Given the description of an element on the screen output the (x, y) to click on. 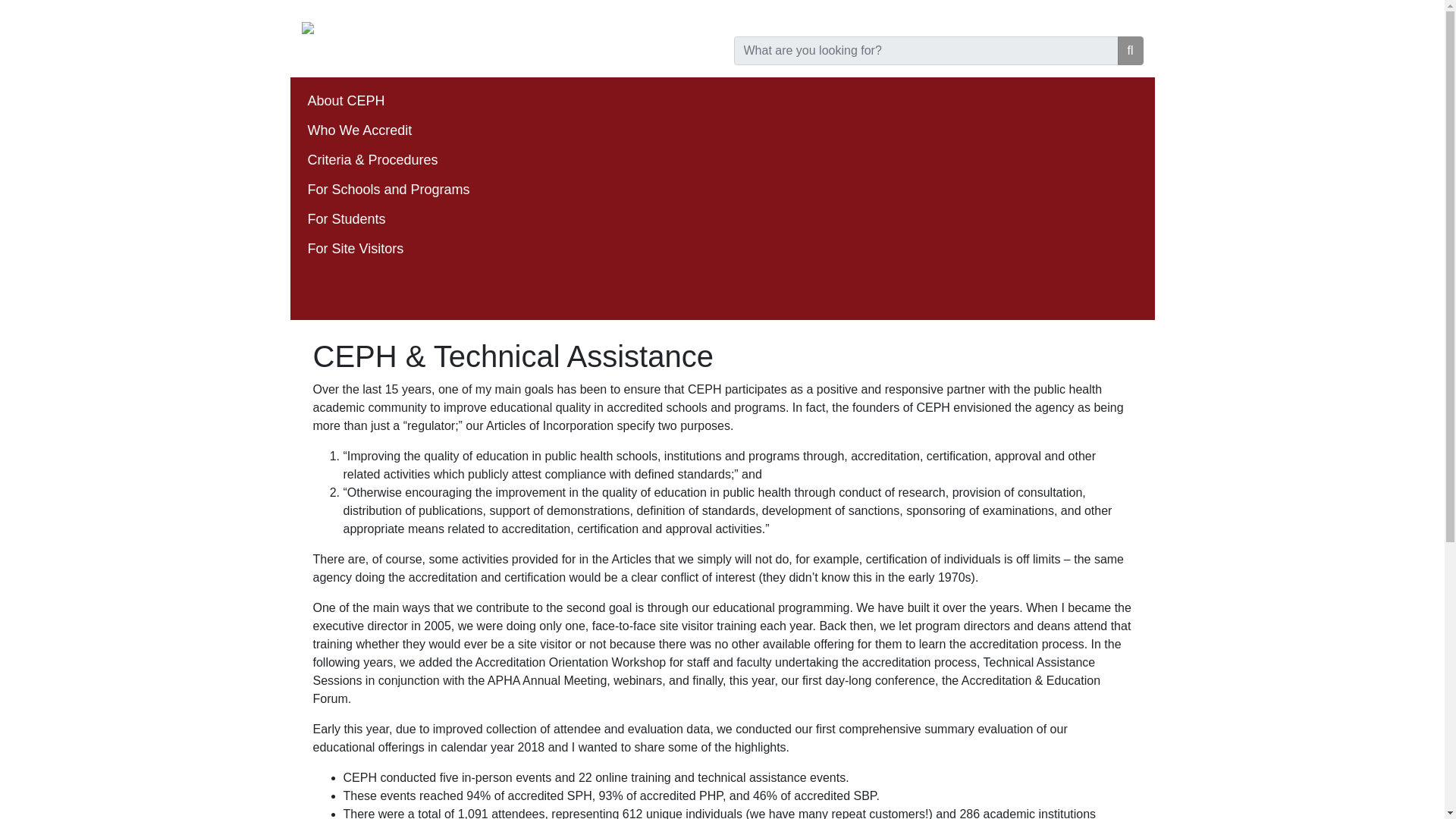
For Schools and Programs (388, 189)
For Site Visitors (355, 248)
About CEPH (346, 100)
Who We Accredit (359, 130)
For Students (346, 218)
